Given the description of an element on the screen output the (x, y) to click on. 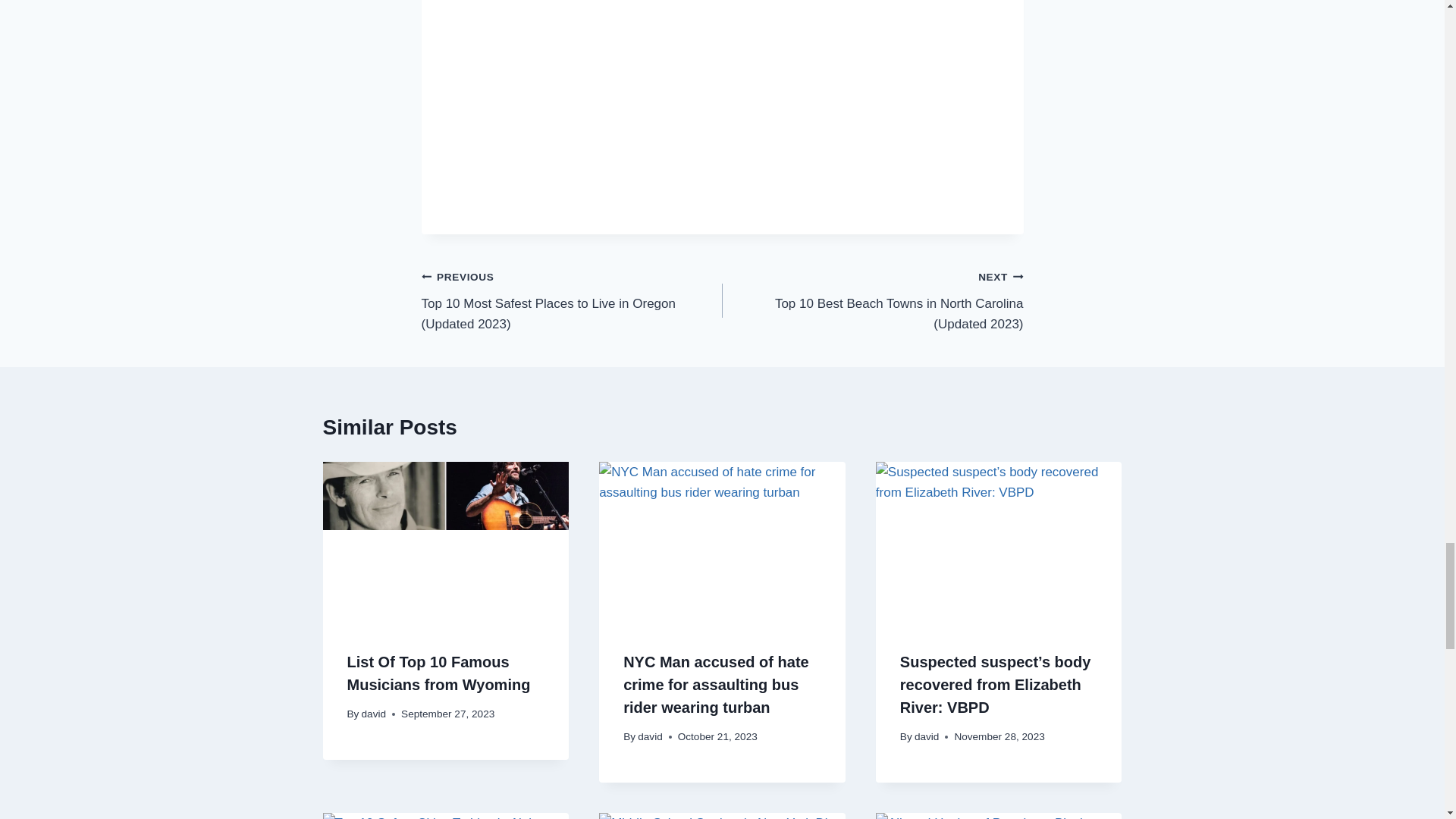
david (649, 736)
List Of Top 10 Famous Musicians from Wyoming (439, 672)
david (374, 713)
david (926, 736)
